Given the description of an element on the screen output the (x, y) to click on. 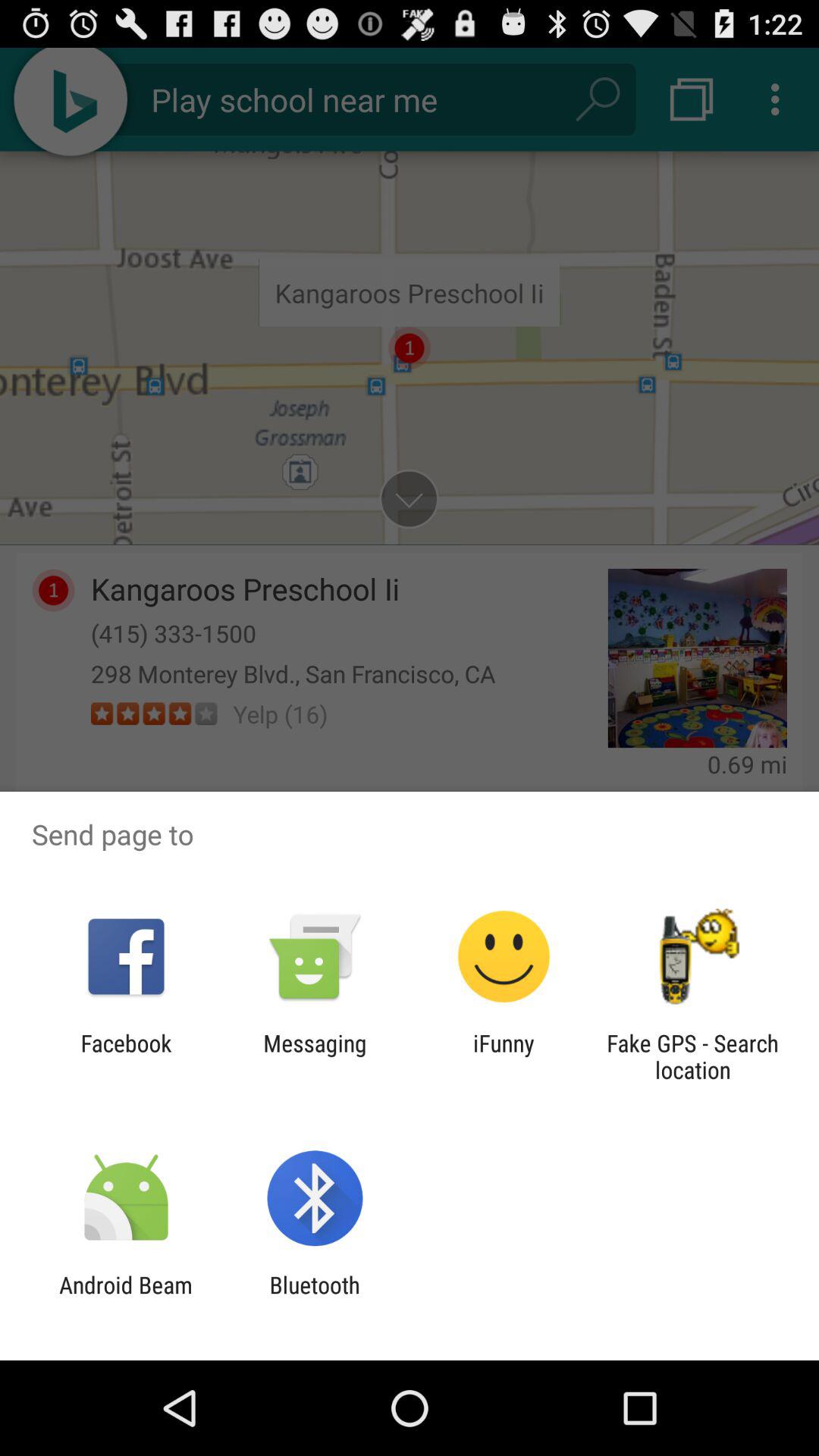
click icon next to ifunny app (692, 1056)
